Given the description of an element on the screen output the (x, y) to click on. 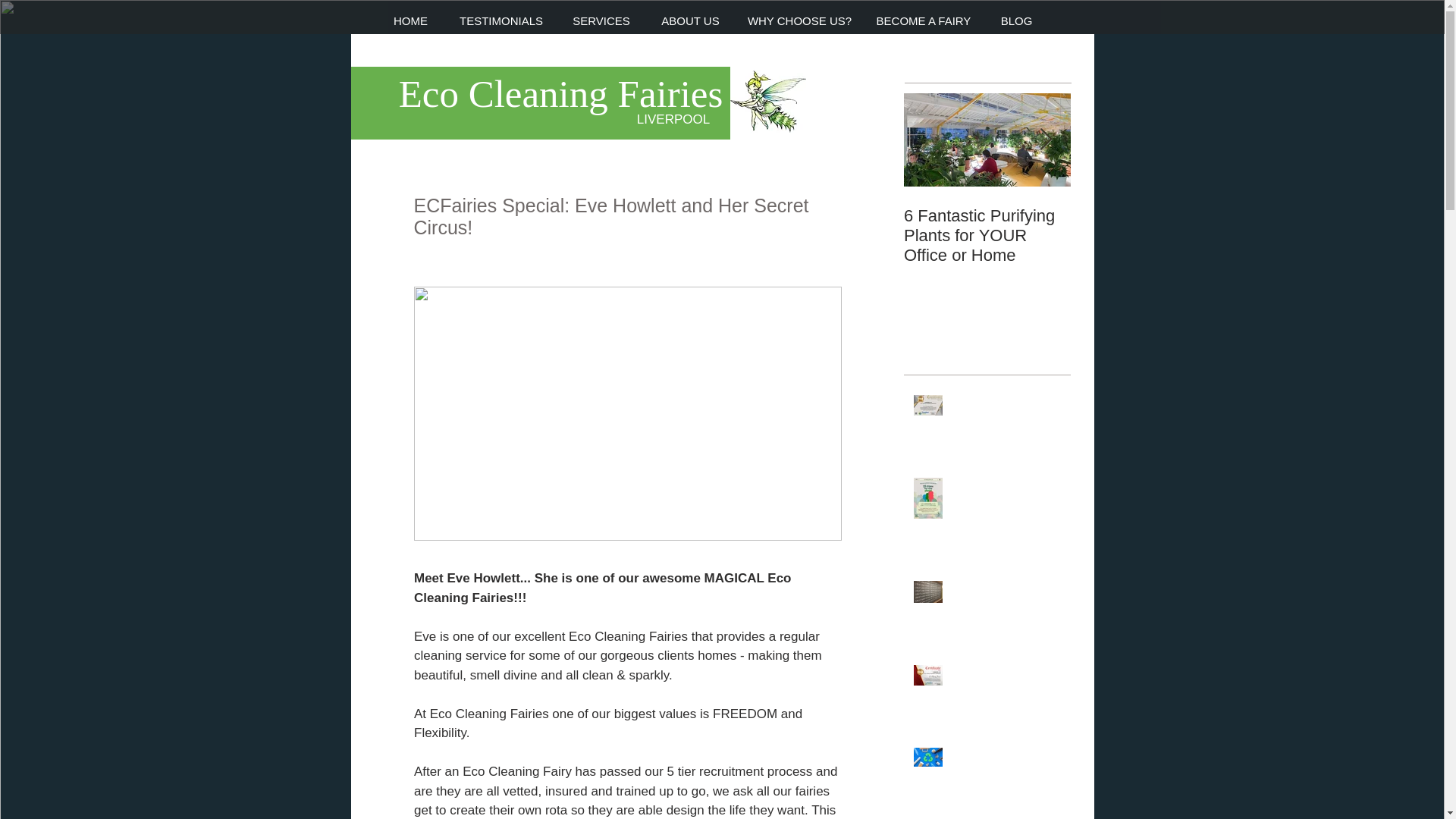
SERVICES (601, 21)
7 Years In A Row Best Office Cleaning Company in Liverpool (1006, 423)
BLOG (1016, 21)
6 Fantastic Purifying Plants for YOUR Office or Home (987, 235)
ABOUT US (690, 21)
WHY CHOOSE US? (799, 21)
HOME (409, 21)
BECOME A FAIRY (923, 21)
TESTIMONIALS (500, 21)
Cuddle Competition Winner! (1153, 225)
